Given the description of an element on the screen output the (x, y) to click on. 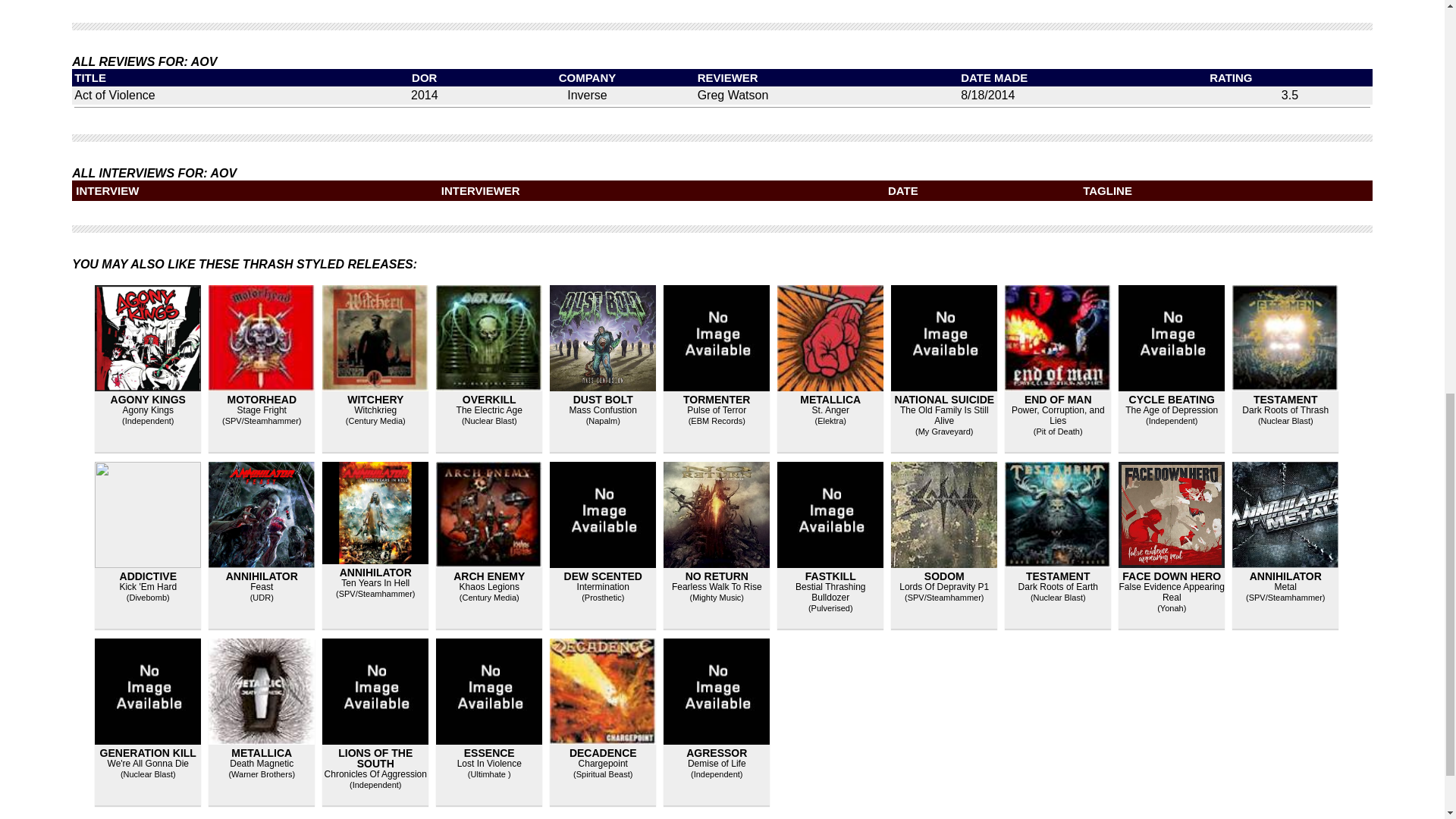
Witchkrieg (374, 409)
NATIONAL SUICIDE (943, 399)
METALLICA (829, 399)
Stage Fright (261, 409)
AGONY KINGS (148, 399)
OVERKILL (489, 399)
END OF MAN (1058, 399)
The Old Family Is Still Alive (943, 414)
WITCHERY (375, 399)
Agony Kings (147, 409)
Act of Violence (114, 94)
DUST BOLT (603, 399)
TORMENTER (715, 399)
Pulse of Terror (716, 409)
St. Anger (830, 409)
